Given the description of an element on the screen output the (x, y) to click on. 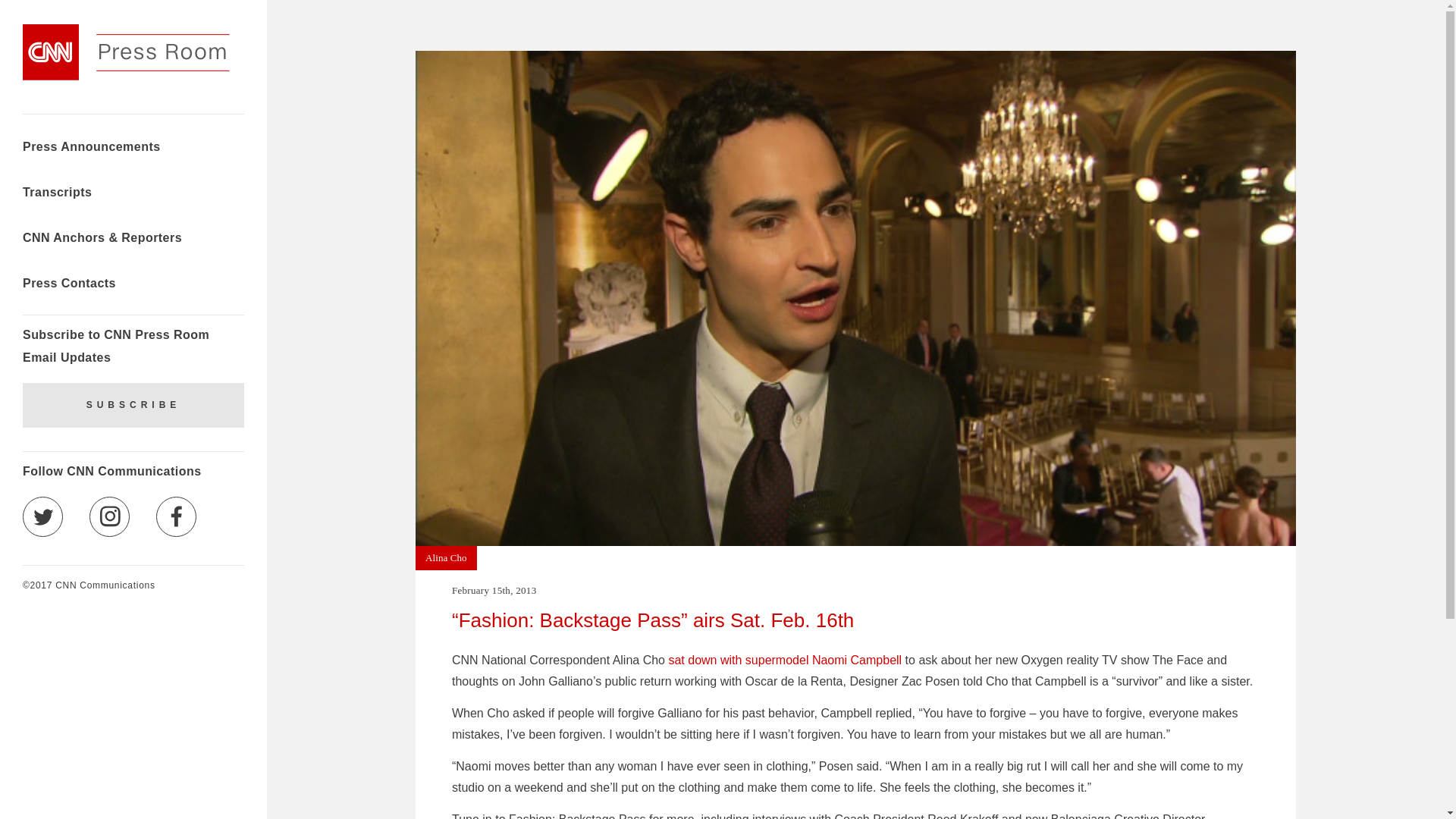
Press Announcements (91, 149)
Press Contacts (69, 285)
Transcripts (57, 194)
